Given the description of an element on the screen output the (x, y) to click on. 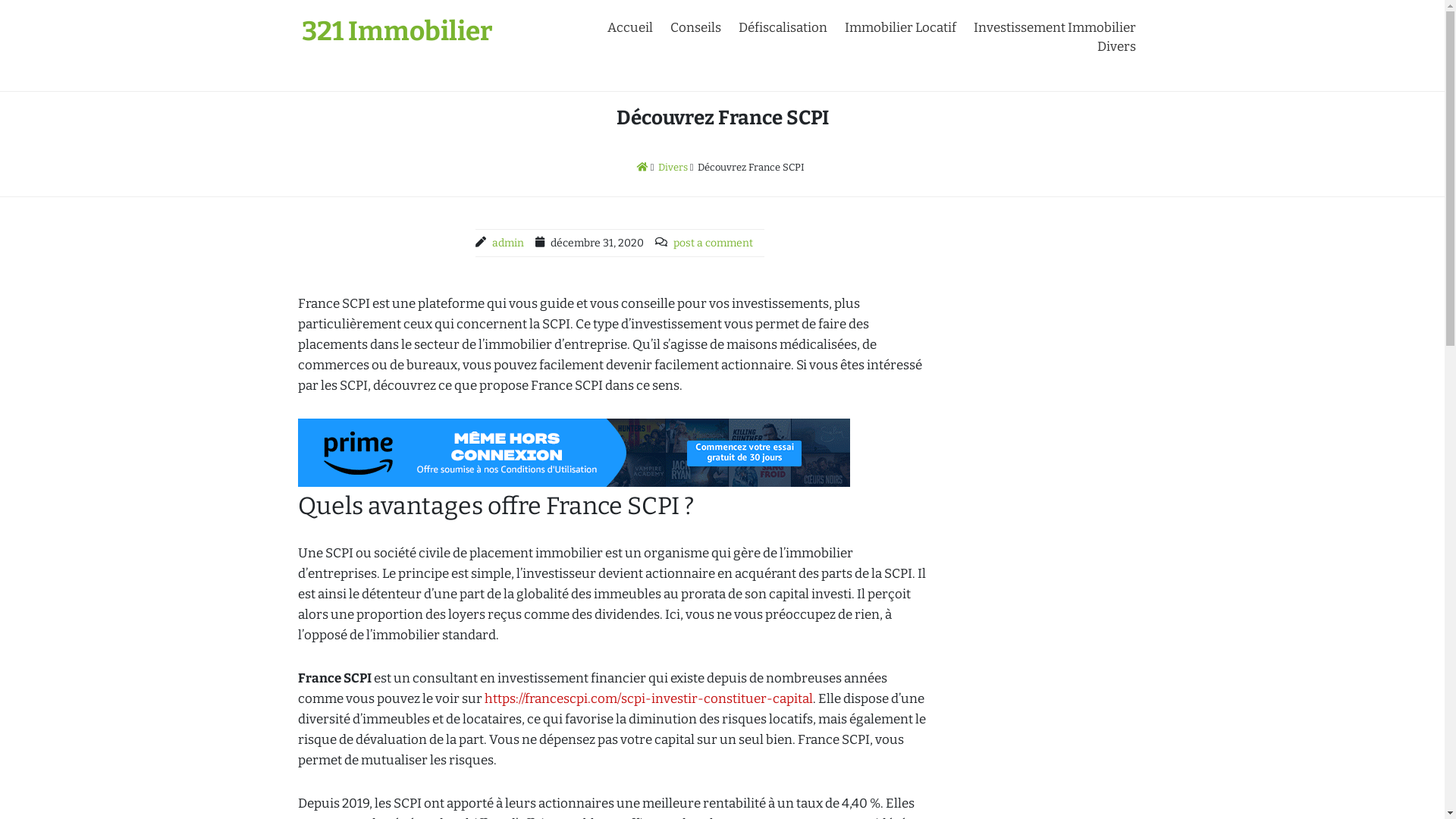
Accueil Element type: text (629, 27)
Investissement Immobilier Element type: text (1054, 27)
post a comment Element type: text (713, 242)
Conseils Element type: text (695, 27)
admin Element type: text (508, 242)
Skip to content Element type: text (0, 0)
Divers Element type: text (1115, 46)
321 Immobilier Element type: text (396, 31)
https://francescpi.com/scpi-investir-constituer-capital Element type: text (647, 698)
Divers Element type: text (672, 166)
Immobilier Locatif Element type: text (900, 27)
